Given the description of an element on the screen output the (x, y) to click on. 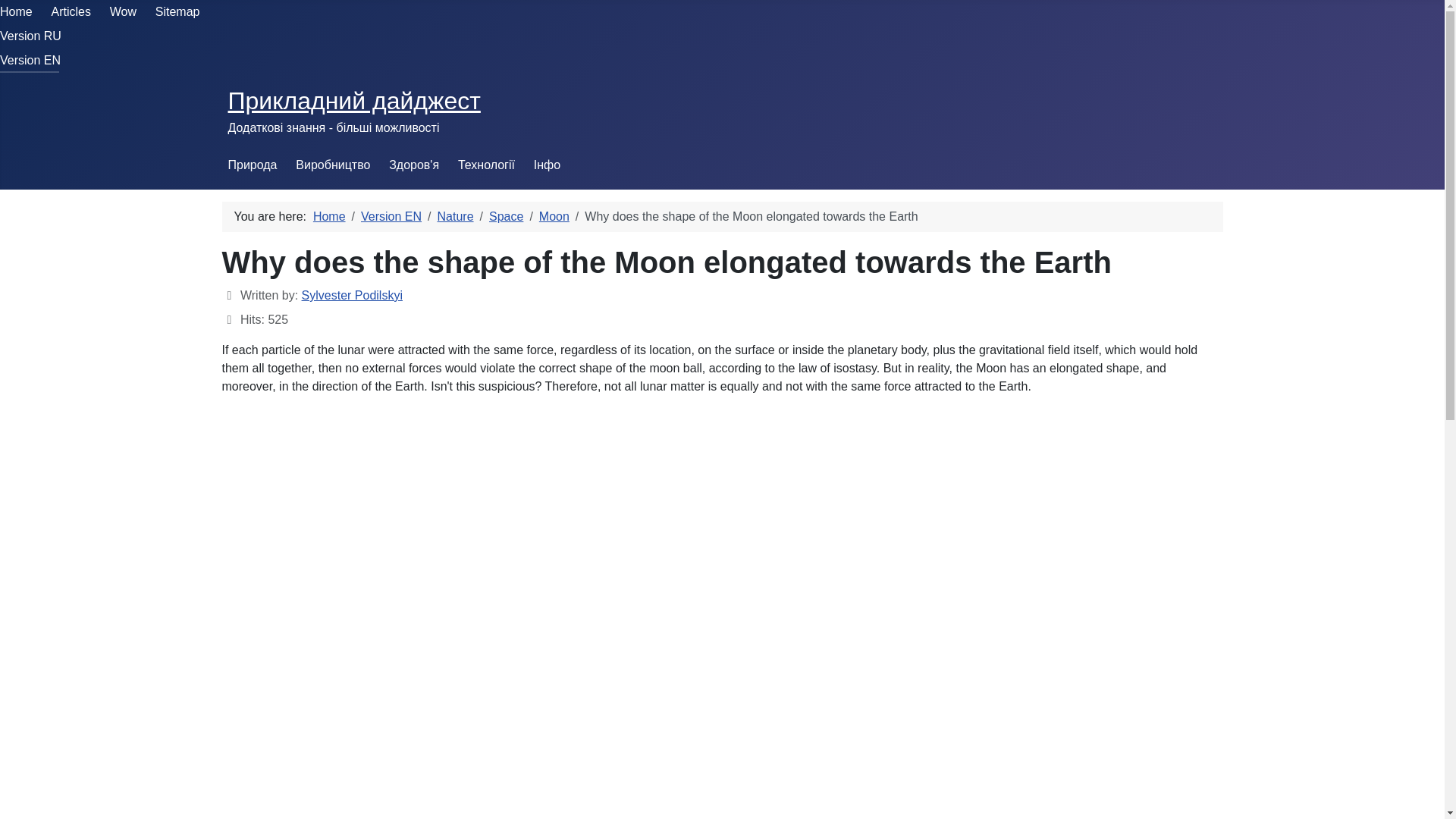
Sitemap (177, 11)
Articles (70, 11)
Version RU (30, 35)
Wow (123, 11)
Home (16, 11)
